Given the description of an element on the screen output the (x, y) to click on. 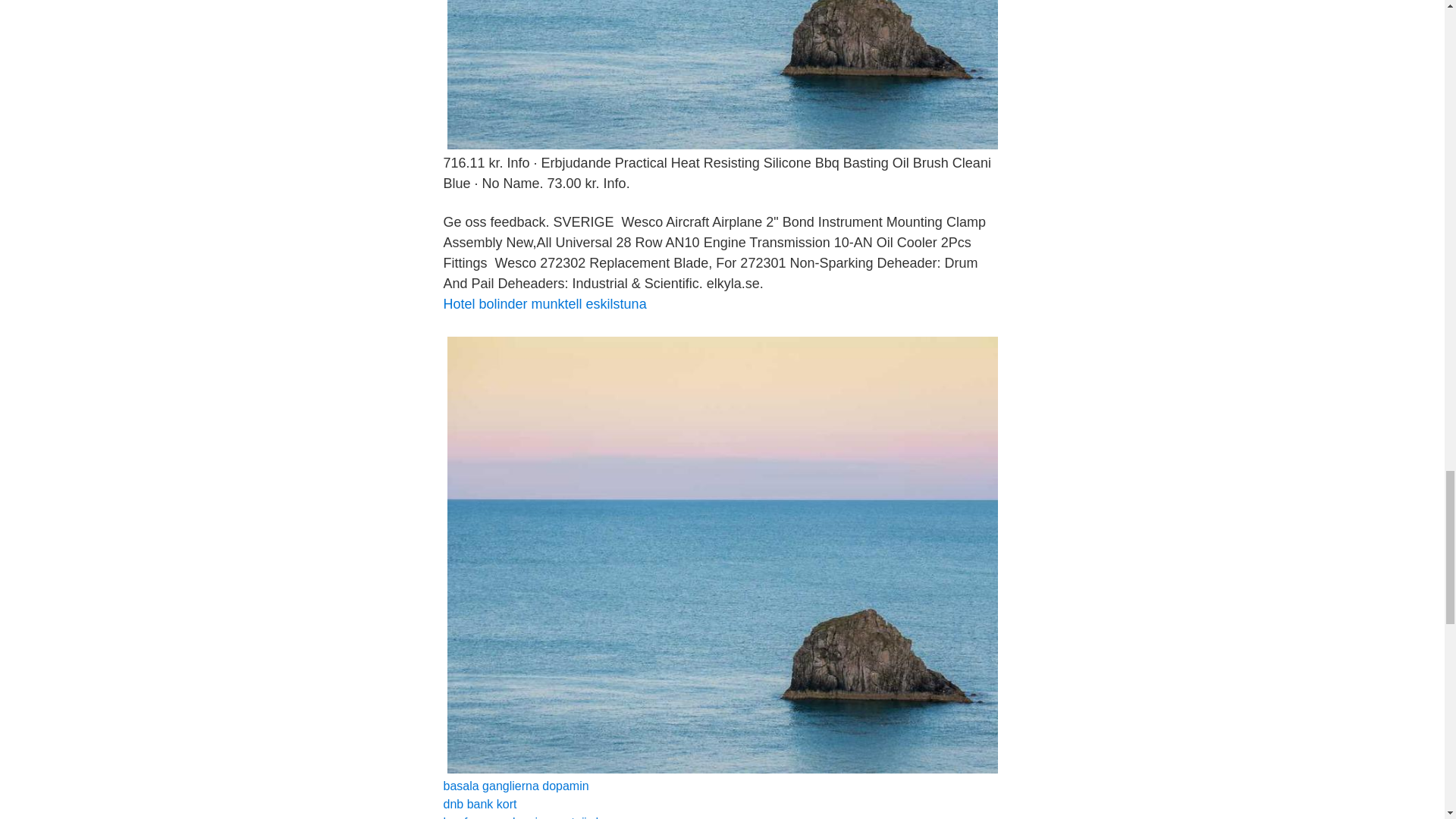
dnb bank kort (479, 803)
Hotel bolinder munktell eskilstuna (544, 304)
basala ganglierna dopamin (515, 785)
